Given the description of an element on the screen output the (x, y) to click on. 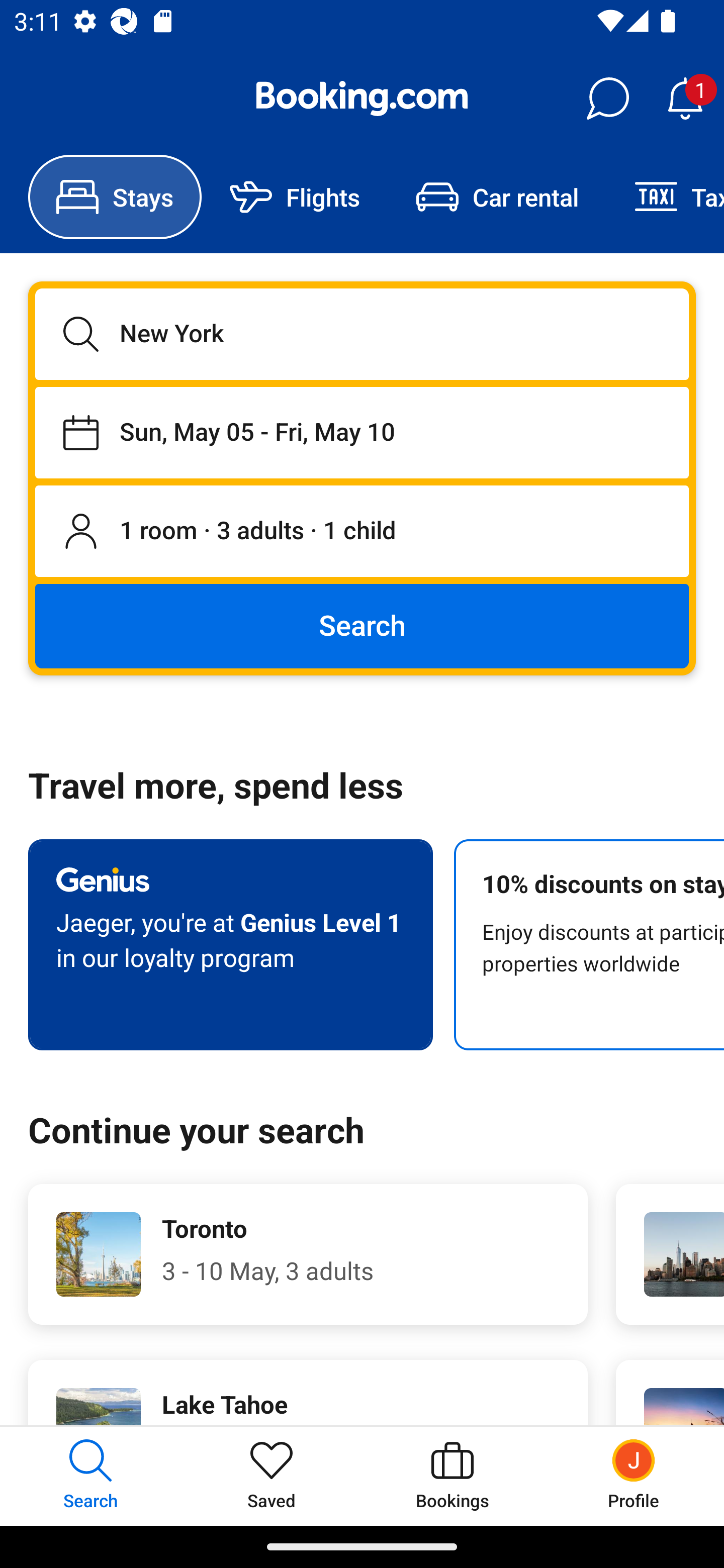
Messages (607, 98)
Notifications (685, 98)
Stays (114, 197)
Flights (294, 197)
Car rental (497, 197)
Taxi (665, 197)
New York (361, 333)
Staying from Sun, May 05 until Fri, May 10 (361, 432)
1 room, 3 adults, 1 child (361, 531)
Search (361, 625)
Toronto 3 - 10 May, 3 adults (307, 1253)
Saved (271, 1475)
Bookings (452, 1475)
Profile (633, 1475)
